Given the description of an element on the screen output the (x, y) to click on. 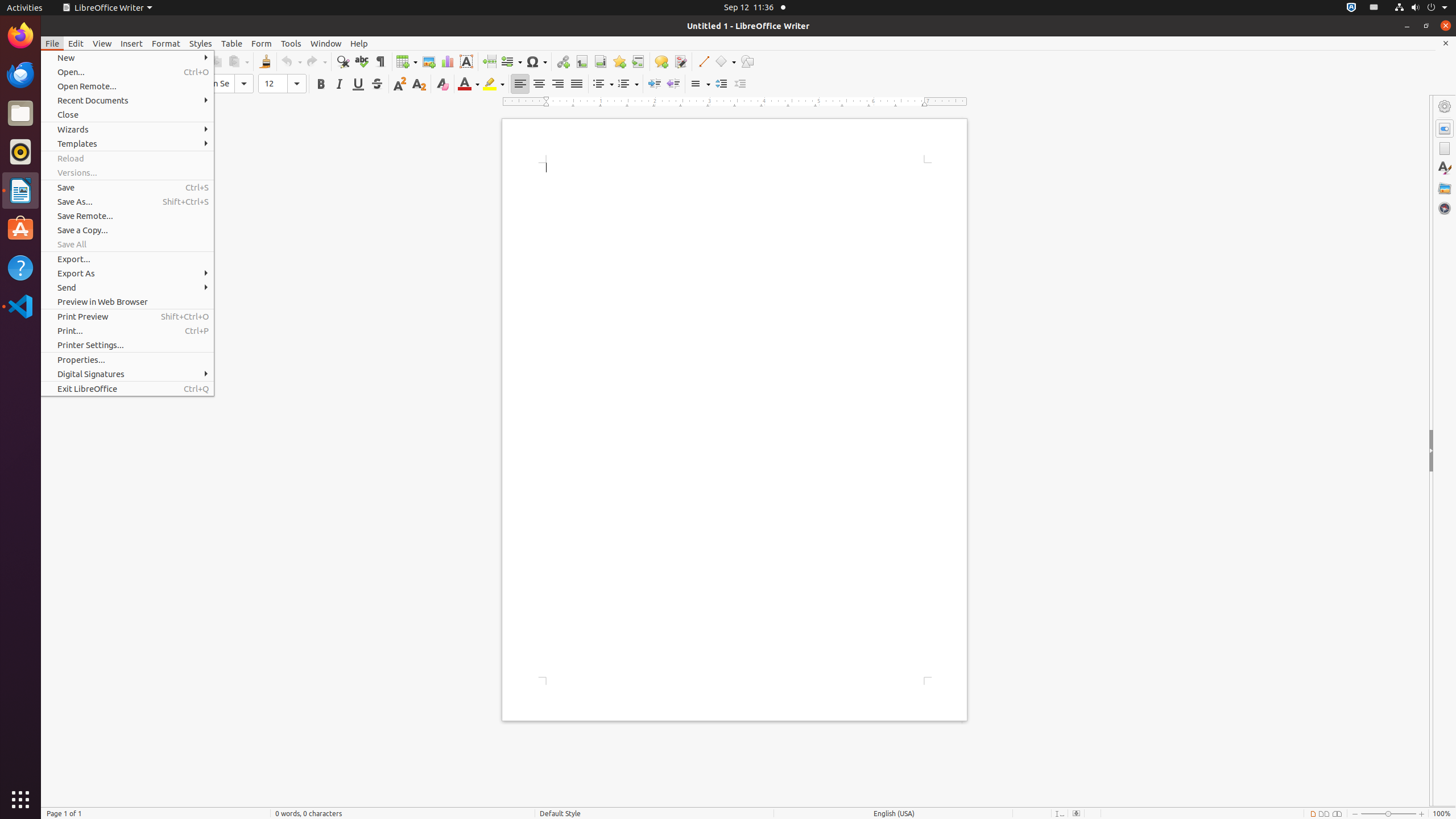
Hyperlink Element type: toggle-button (562, 61)
Draw Functions Element type: push-button (746, 61)
Symbol Element type: push-button (535, 61)
Show Applications Element type: toggle-button (20, 799)
Bookmark Element type: push-button (618, 61)
